Given the description of an element on the screen output the (x, y) to click on. 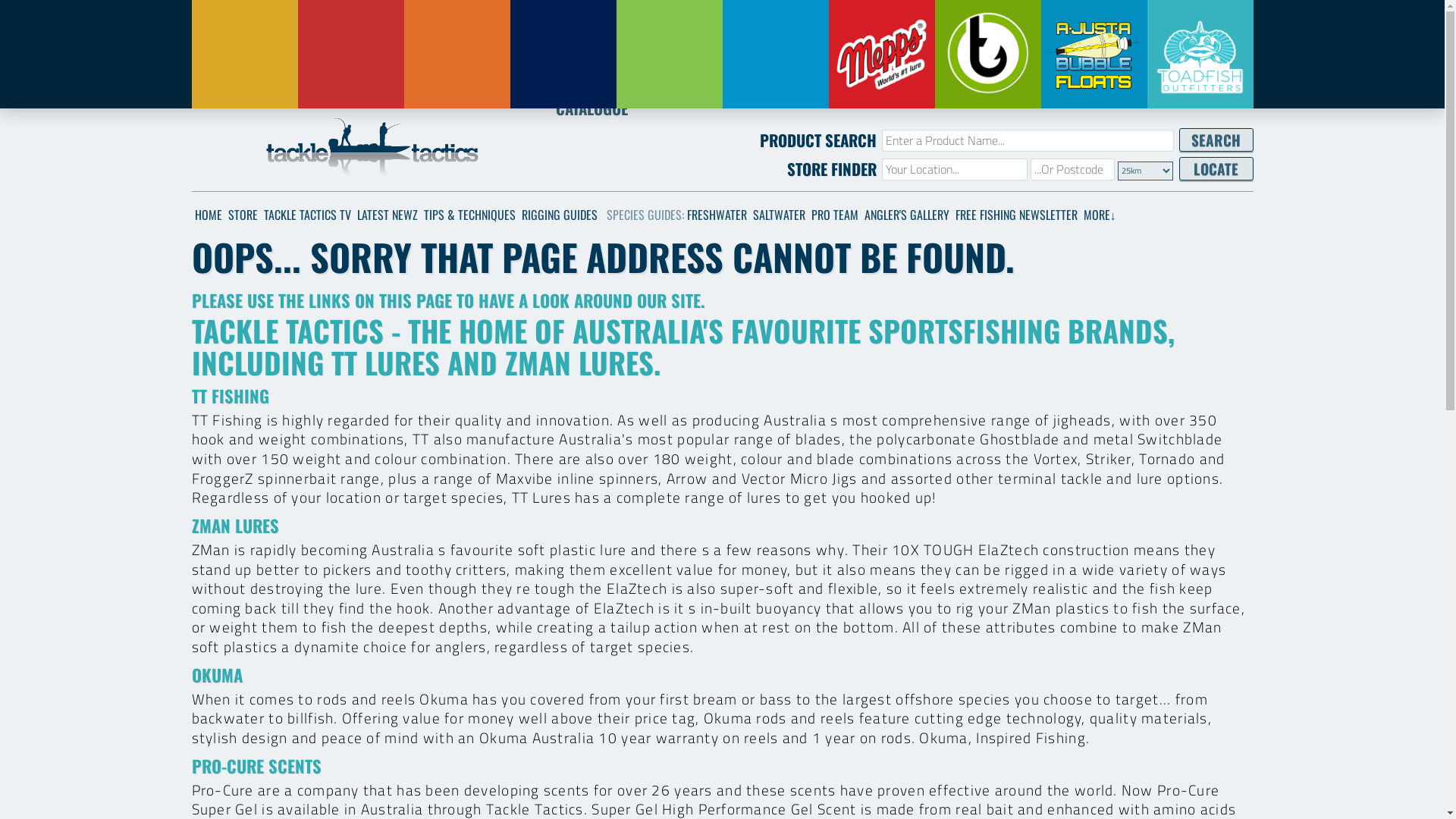
Tackle Tactics - Platypus Element type: hover (668, 54)
TACKLE TACTICS TV Element type: text (307, 214)
Tackle Tactics - Fish Inc Lures Element type: hover (774, 54)
RIGGING GUIDES Element type: text (559, 214)
Tackle Tactics - Toadfish Outfitters Element type: hover (1199, 54)
Tackle Tactics - TRIBE Fishing Element type: hover (987, 54)
HOME Element type: text (207, 214)
FREE FISHING NEWSLETTER Element type: text (1016, 214)
Tackle Tactics - Instagram Element type: hover (203, 128)
LATEST NEWZ Element type: text (386, 214)
STORE Element type: text (242, 214)
FRESHWATER Element type: text (716, 214)
Tackle Tactics - Facebook Element type: hover (203, 156)
Tackle Tactics - Mepps Lures Element type: hover (881, 54)
SEARCH Element type: text (1215, 139)
Tackle Tactics - Home Page Element type: hover (371, 148)
Tackle Tactics - Pro Cure Element type: hover (456, 54)
ANGLER'S GALLERY Element type: text (906, 214)
Tackle Tactics - ZMan Lures Element type: hover (350, 54)
SALTWATER Element type: text (778, 214)
TIPS & TECHNIQUES Element type: text (468, 214)
Tackle Tactics - TT Fishing Element type: hover (244, 54)
Tackle Tactics - Tik Tok Element type: hover (230, 128)
Tackle Tactics - A-Just-A Bubble Floats Element type: hover (1093, 54)
Tackle Tactics - Okuma Element type: hover (562, 54)
LOCATE Element type: text (1215, 168)
Tackle Tactics - Youtube Element type: hover (230, 156)
PRO TEAM Element type: text (834, 214)
